Given the description of an element on the screen output the (x, y) to click on. 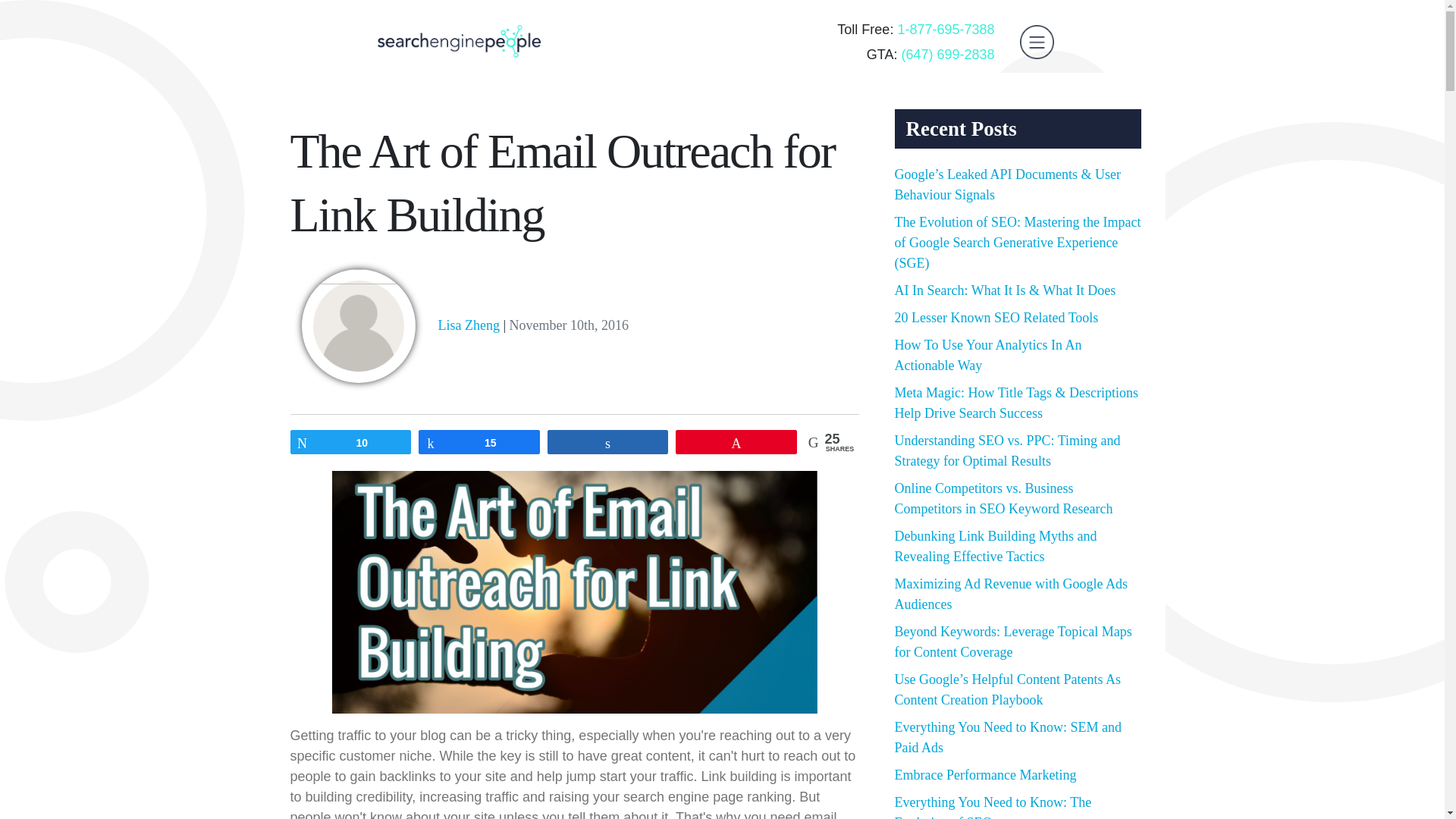
10 (350, 441)
1-877-695-7388 (945, 29)
20 Lesser Known SEO Related Tools (997, 317)
15 (478, 441)
How To Use Your Analytics In An Actionable Way (988, 355)
Lisa Zheng (468, 324)
